Given the description of an element on the screen output the (x, y) to click on. 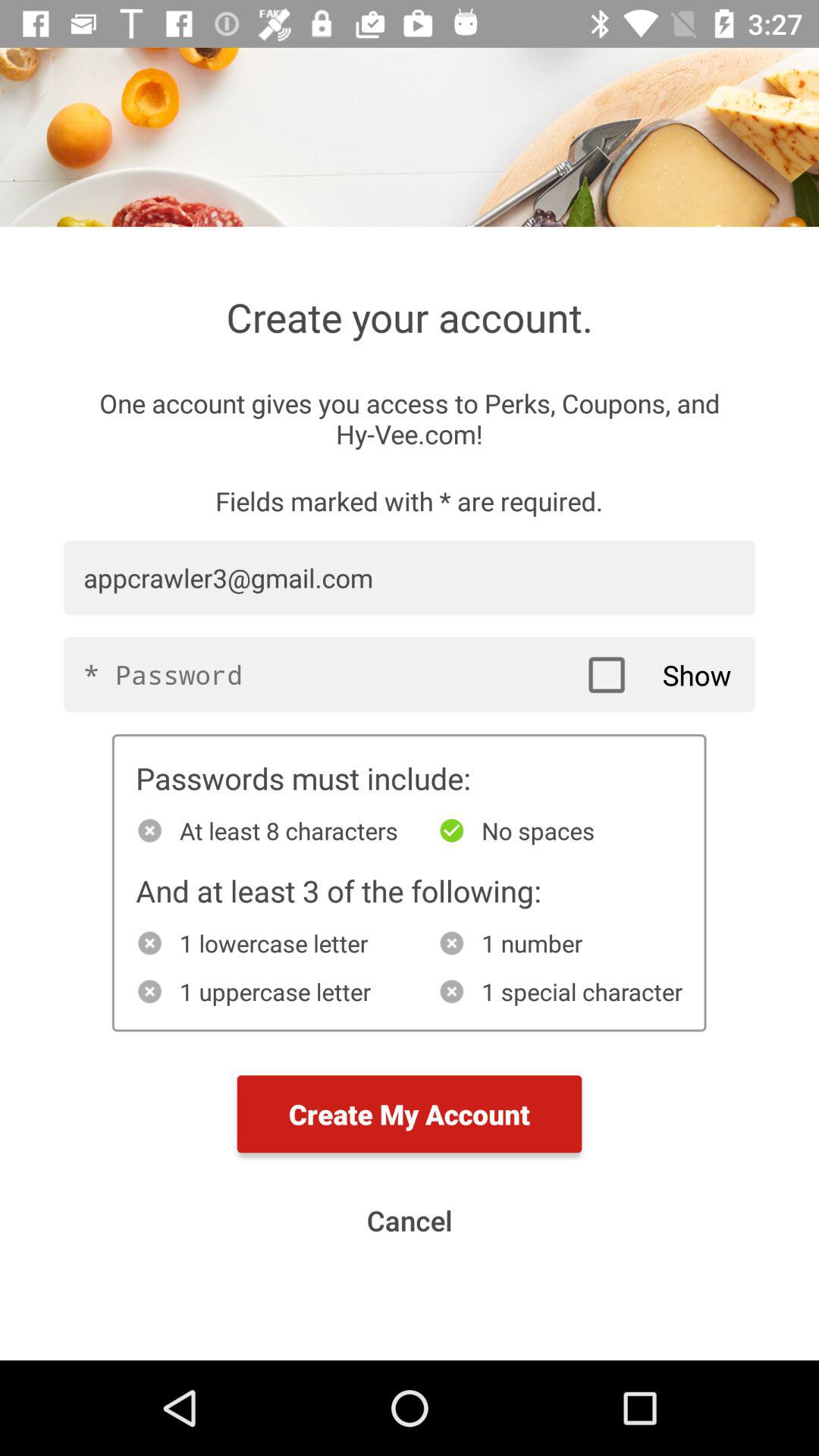
select the password box (409, 674)
